Given the description of an element on the screen output the (x, y) to click on. 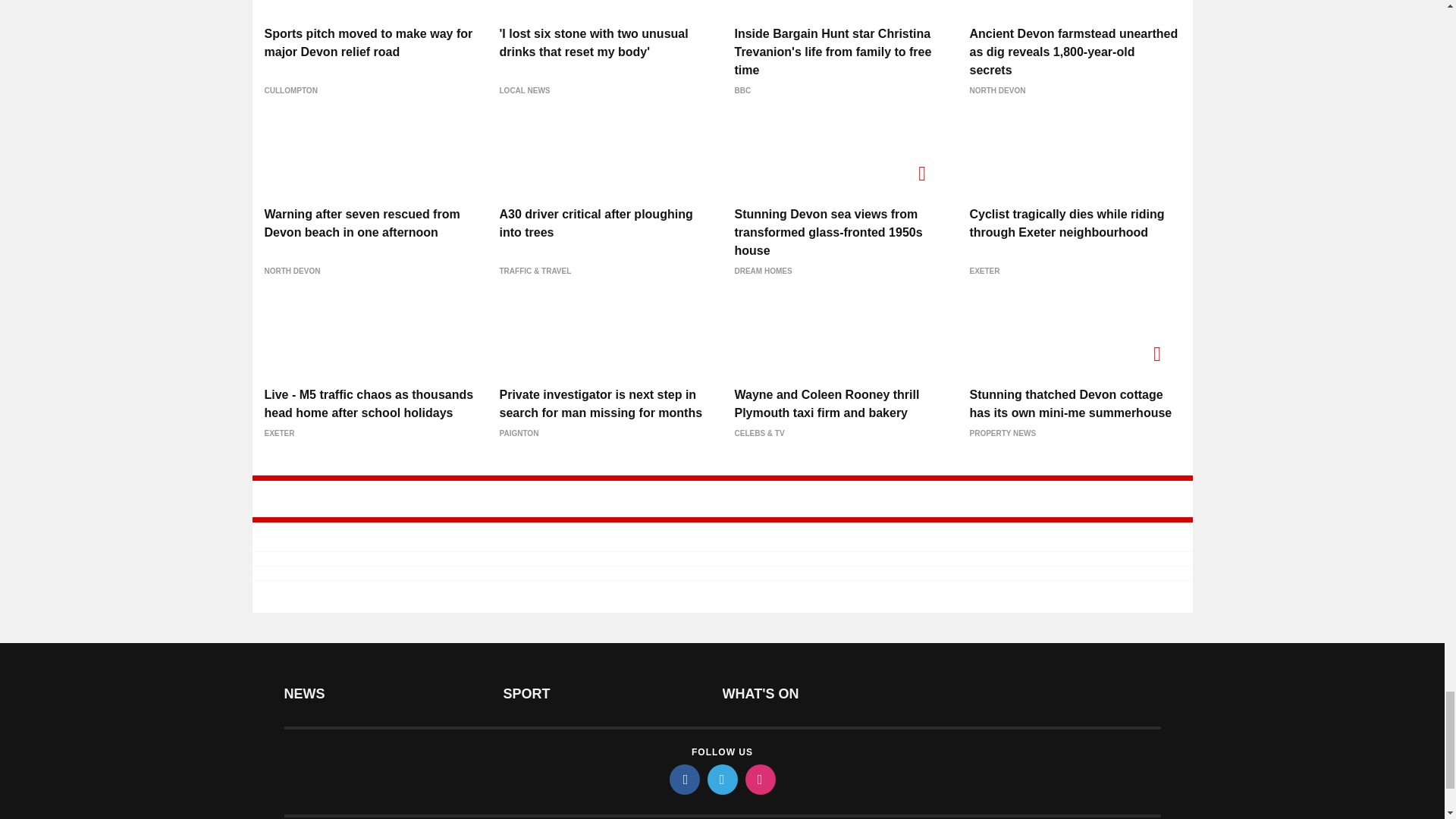
instagram (759, 779)
twitter (721, 779)
facebook (683, 779)
